Given the description of an element on the screen output the (x, y) to click on. 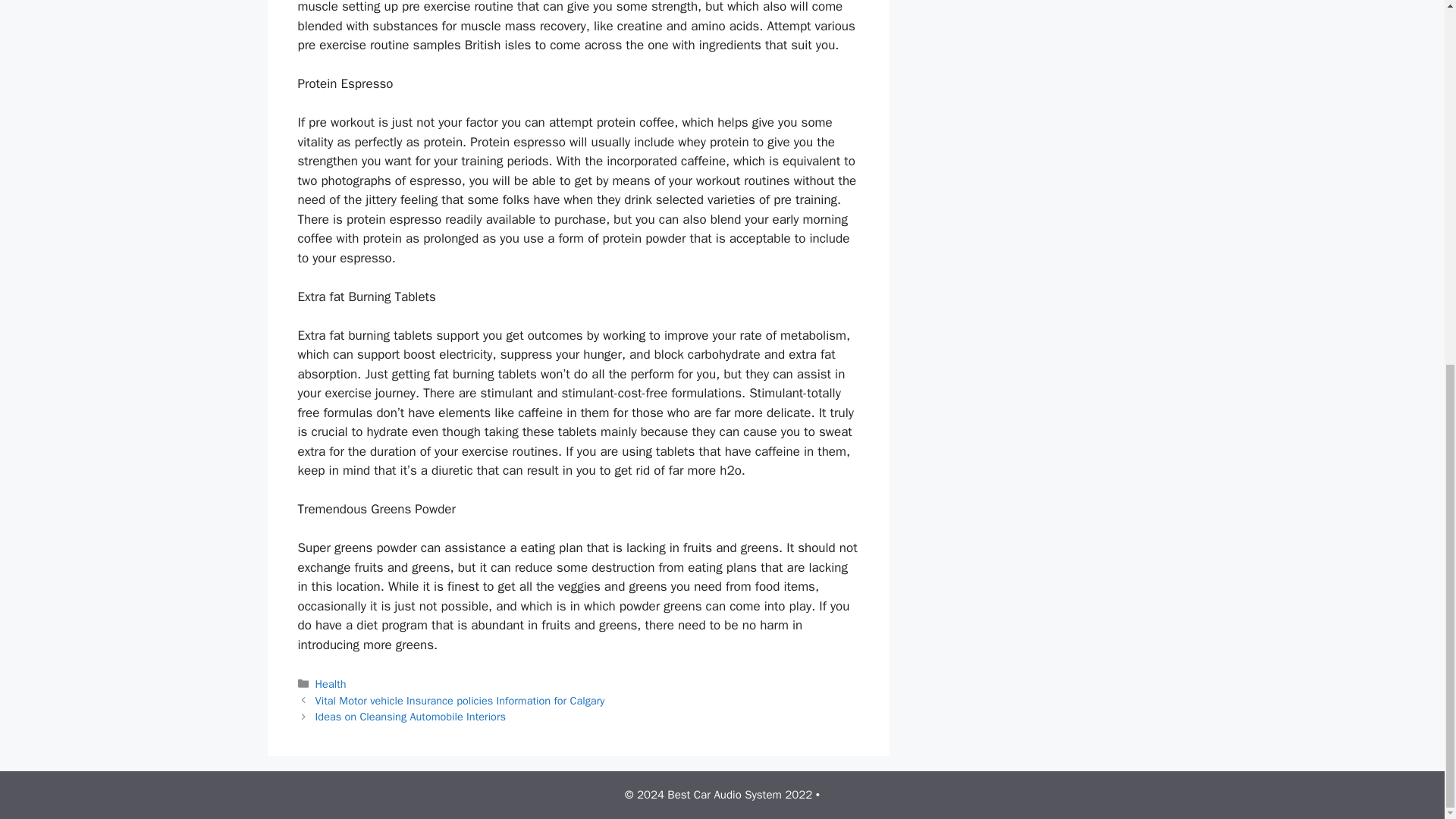
Ideas on Cleansing Automobile Interiors (410, 716)
Health (330, 684)
